Given the description of an element on the screen output the (x, y) to click on. 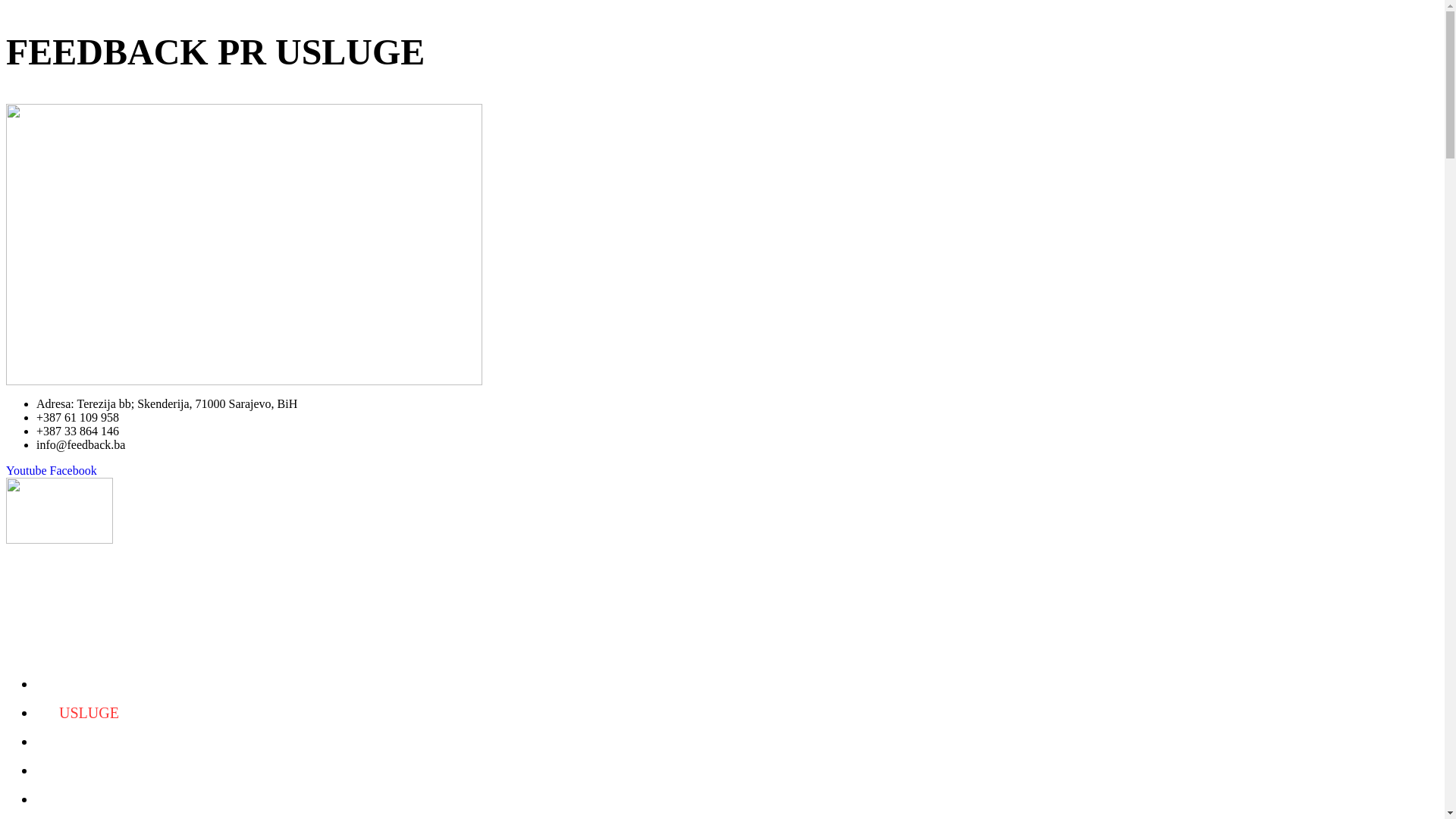
NAGRADE Element type: text (96, 799)
Facebook Element type: text (73, 470)
REFERENCE Element type: text (102, 770)
Youtube Element type: text (28, 470)
KLIJENTI Element type: text (91, 741)
USLUGE Element type: text (88, 712)
